Given the description of an element on the screen output the (x, y) to click on. 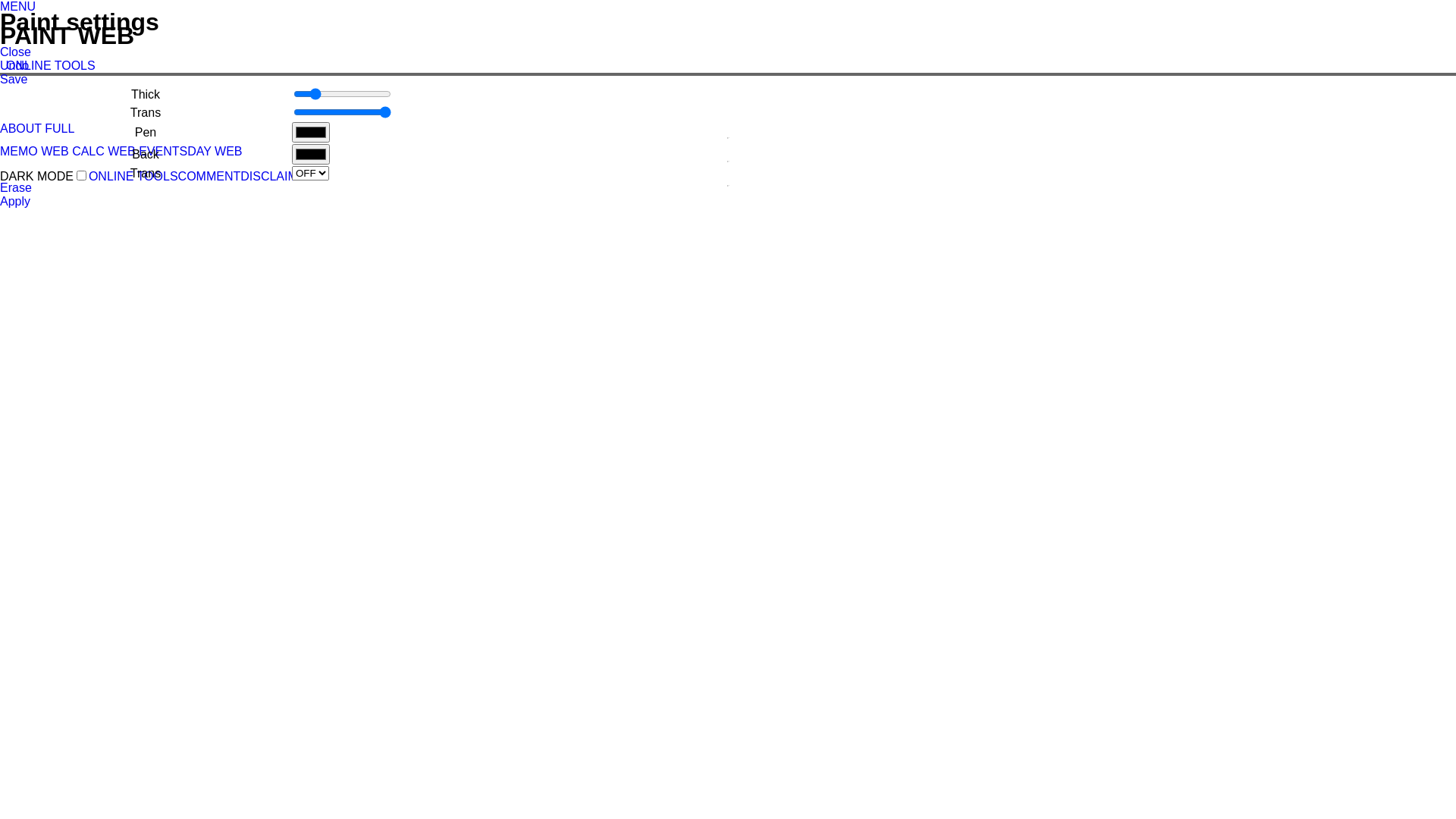
COMMENT Element type: text (209, 175)
Erase Element type: text (15, 187)
ABOUT Element type: text (20, 128)
FULL Element type: text (59, 128)
Apply Element type: text (15, 200)
CALC WEB Element type: text (103, 150)
MENU Element type: text (17, 6)
ONLINE TOOLS Element type: text (50, 65)
MEMO WEB Element type: text (34, 150)
Close Element type: text (15, 51)
Save Element type: text (13, 78)
EVENTSDAY WEB Element type: text (189, 150)
ONLINE TOOLS Element type: text (133, 175)
DISCLAIMER Element type: text (277, 175)
Undo Element type: text (14, 65)
